Given the description of an element on the screen output the (x, y) to click on. 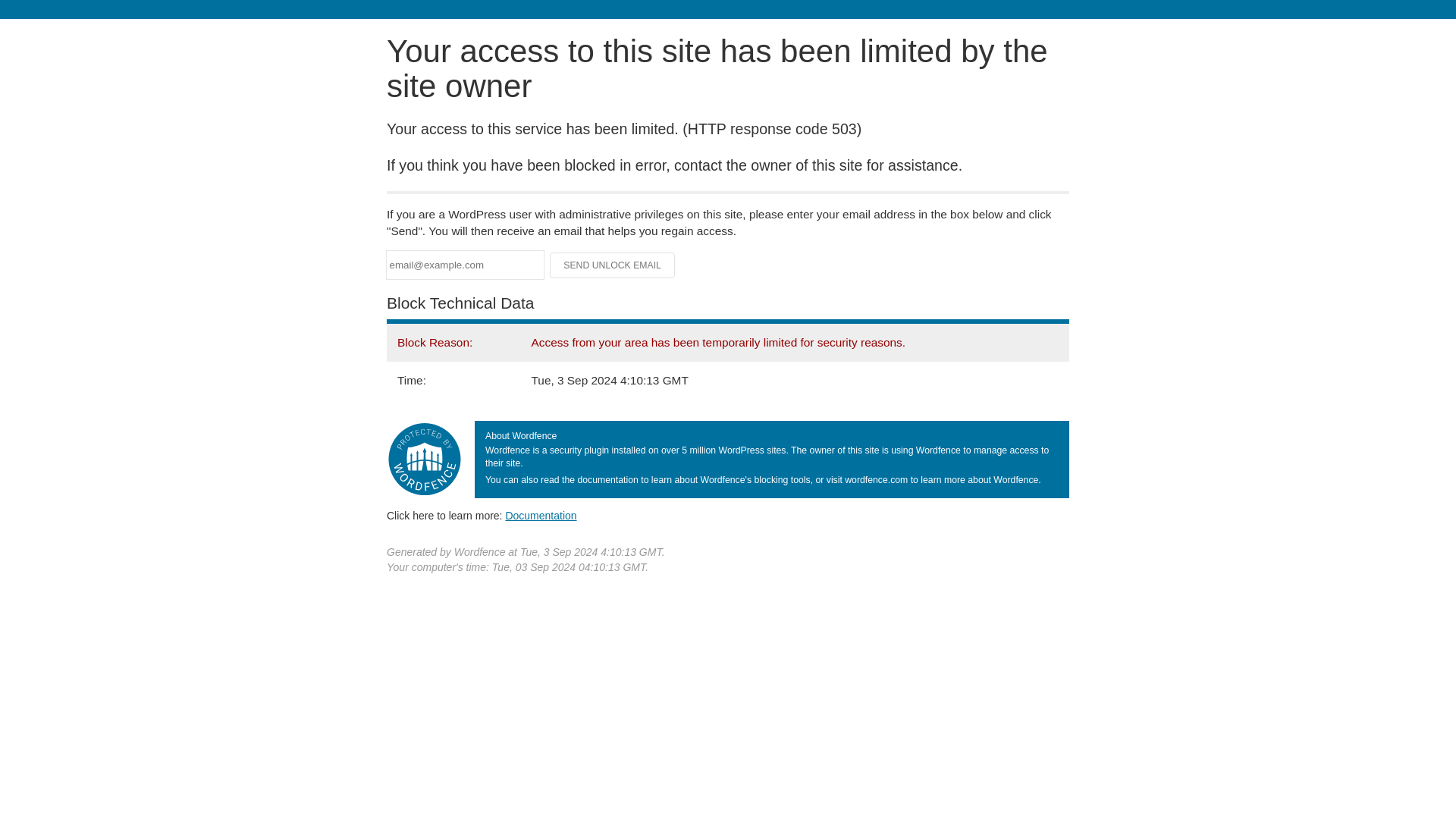
Send Unlock Email (612, 265)
Documentation (540, 515)
Send Unlock Email (612, 265)
